Given the description of an element on the screen output the (x, y) to click on. 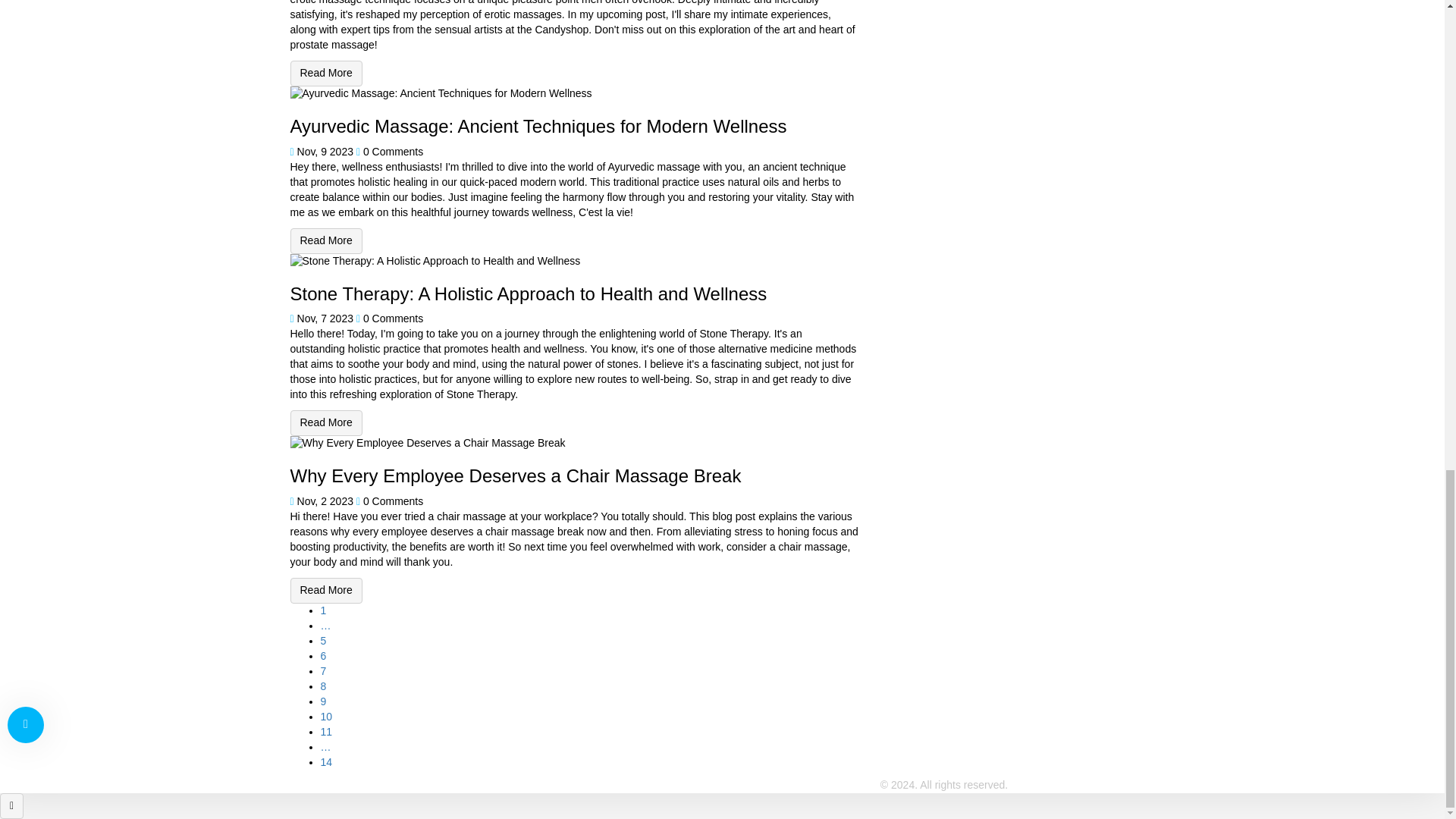
Read More (325, 73)
11 (325, 731)
Read More (325, 590)
Ayurvedic Massage: Ancient Techniques for Modern Wellness (325, 240)
Stone Therapy: A Holistic Approach to Health and Wellness (325, 422)
Read More (325, 422)
10 (325, 716)
Why Every Employee Deserves a Chair Massage Break (325, 590)
14 (325, 761)
The Art and Heart of Prostate Massage at Candyshop in Prague (325, 73)
Read More (325, 240)
